Given the description of an element on the screen output the (x, y) to click on. 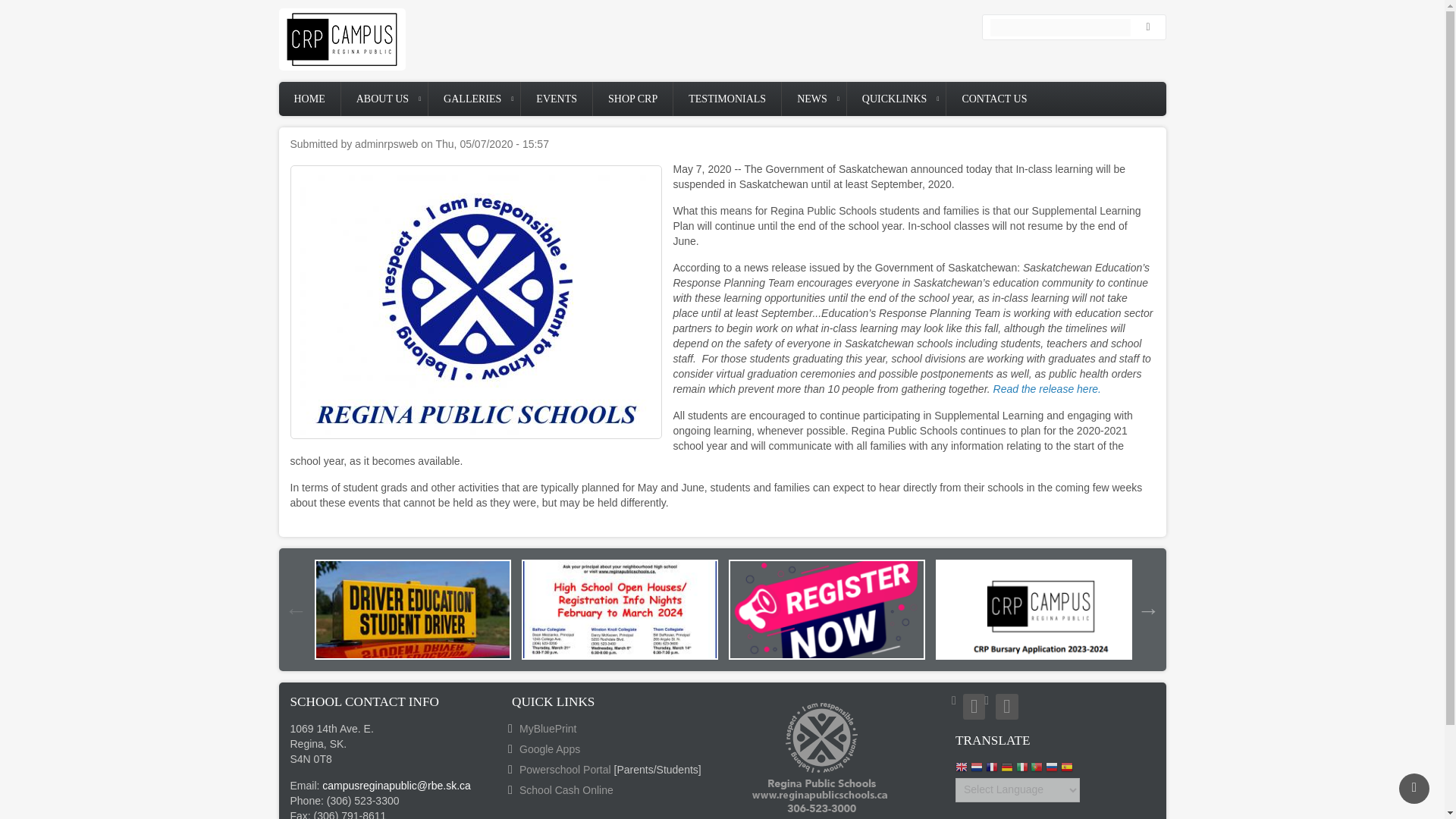
Enter the terms you wish to search for. (1060, 27)
Previous (295, 608)
CONTACT US (994, 98)
ABOUT US (384, 98)
Search (1150, 27)
Back to Top (1414, 788)
EVENTS (556, 98)
QUICKLINKS (896, 98)
GALLERIES (473, 98)
Read the release here. (1046, 388)
TESTIMONIALS (726, 98)
SHOP CRP (632, 98)
HOME (309, 98)
Search (1150, 27)
